Given the description of an element on the screen output the (x, y) to click on. 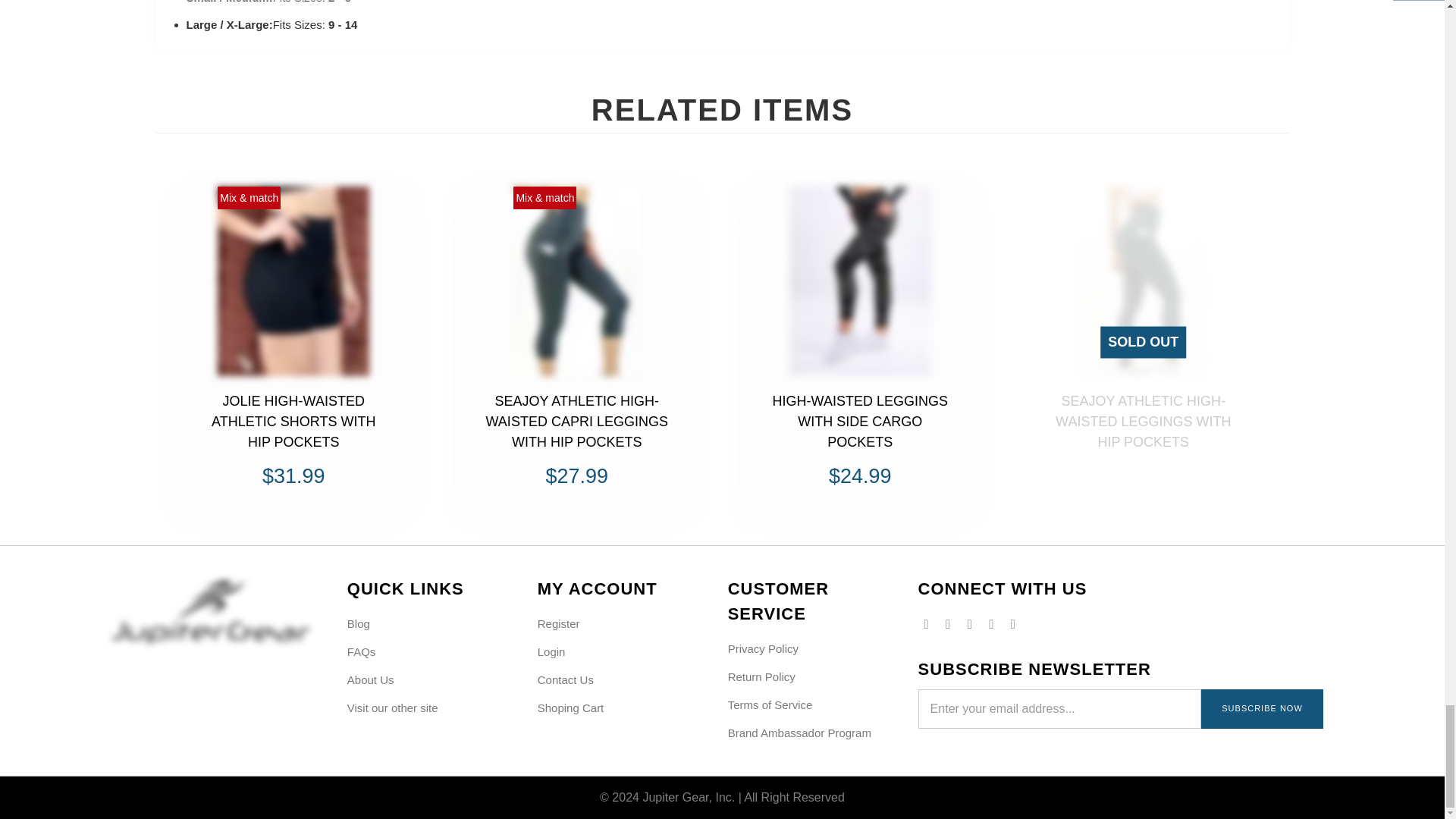
Subscribe Now (1261, 708)
